Given the description of an element on the screen output the (x, y) to click on. 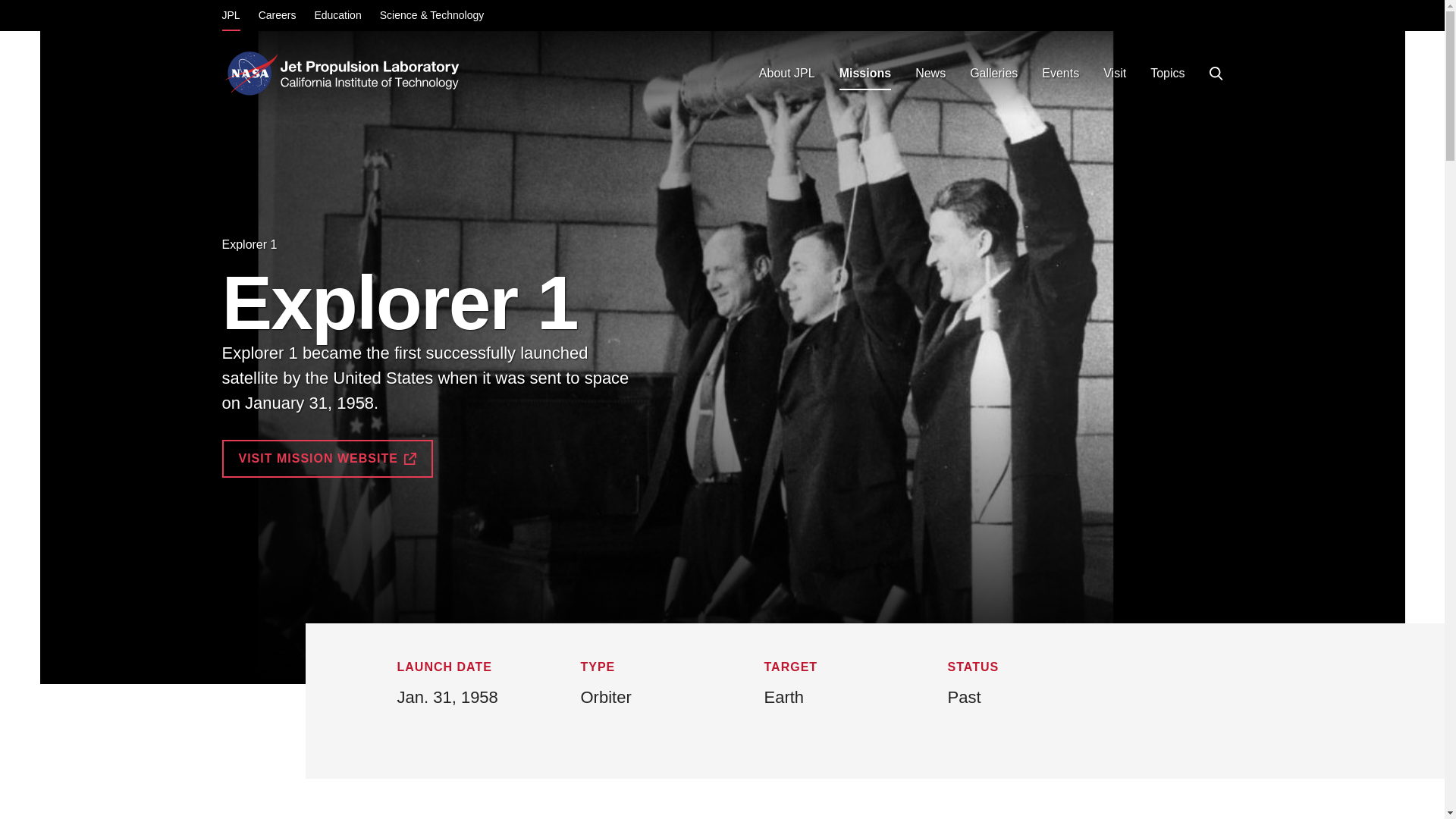
About JPL (786, 73)
News (930, 73)
VISIT MISSION WEBSITE (326, 458)
Missions (864, 73)
Topics (1167, 73)
Galleries (993, 73)
Events (1059, 73)
Education (337, 16)
Visit (1114, 73)
